Given the description of an element on the screen output the (x, y) to click on. 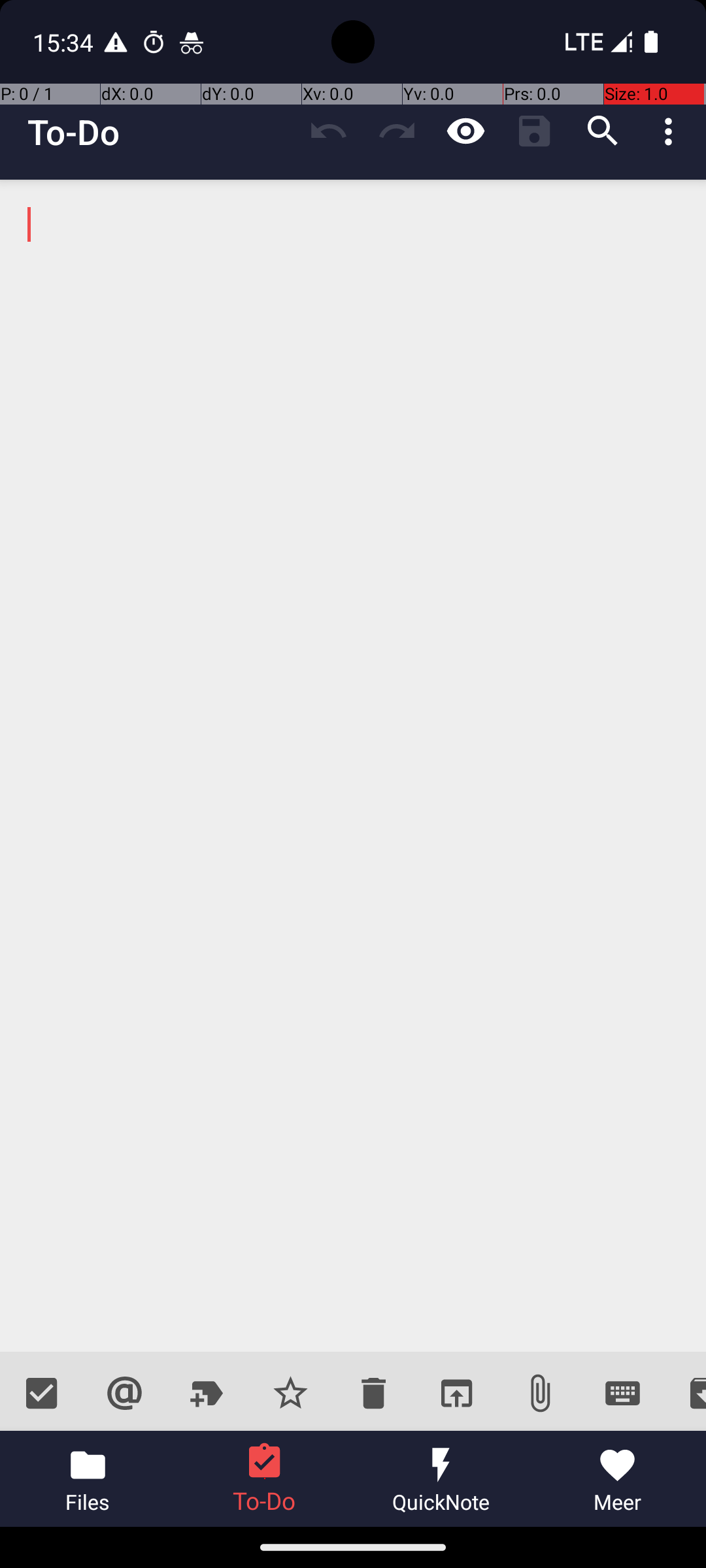
Soek Element type: android.widget.TextView (602, 131)
Meer opsies Element type: android.widget.ImageView (671, 131)
Meer Element type: android.widget.FrameLayout (617, 1478)
Toggle done Element type: android.widget.ImageView (41, 1392)
Add context Element type: android.widget.ImageView (124, 1392)
Add project Element type: android.widget.ImageView (207, 1392)
Priority Element type: android.widget.ImageView (290, 1392)
Archive completed tasks Element type: android.widget.ImageView (685, 1392)
Chrome notification: Incognito Tabs Element type: android.widget.ImageView (191, 41)
